Given the description of an element on the screen output the (x, y) to click on. 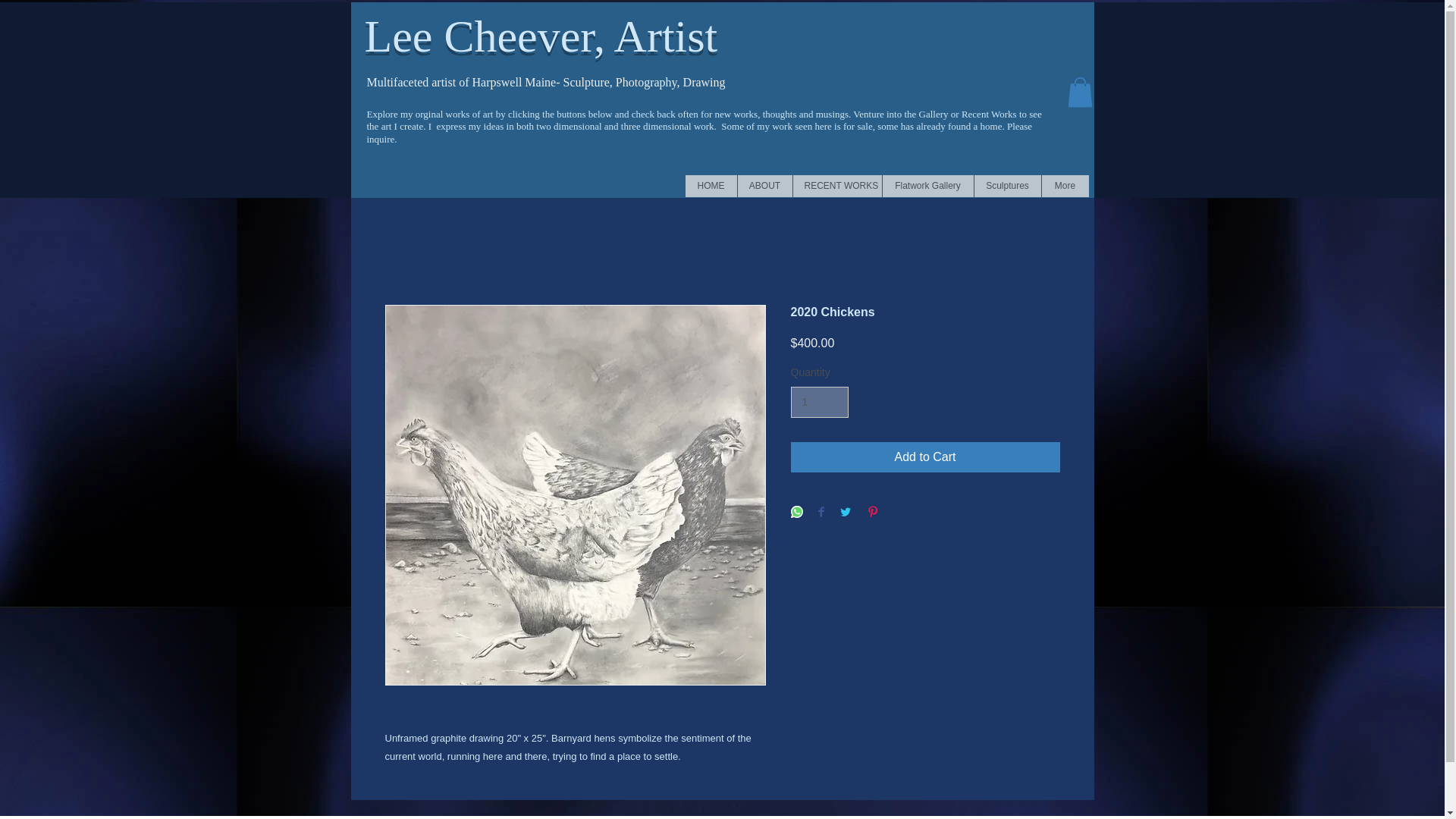
HOME (710, 186)
1 (818, 401)
Add to Cart (924, 457)
ABOUT (764, 186)
Flatwork Gallery (926, 186)
Sculptures (1007, 186)
RECENT WORKS (836, 186)
